Given the description of an element on the screen output the (x, y) to click on. 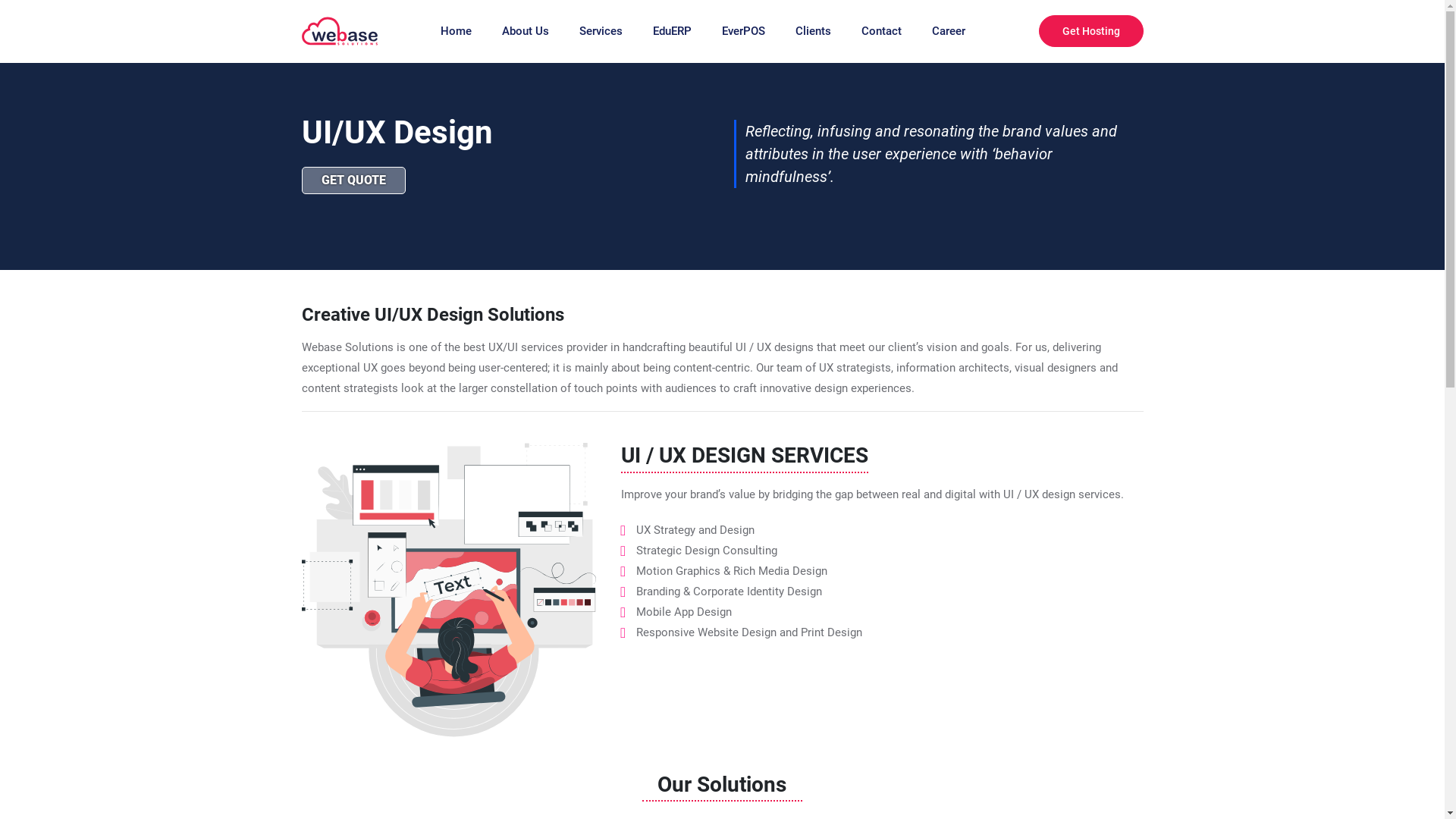
GET QUOTE Element type: text (353, 180)
EduERP Element type: text (671, 31)
Services Element type: text (600, 31)
Home Element type: text (454, 31)
Career Element type: text (947, 31)
Get Hosting Element type: text (1090, 31)
Clients Element type: text (812, 31)
Contact Element type: text (881, 31)
EverPOS Element type: text (743, 31)
About Us Element type: text (525, 31)
